Given the description of an element on the screen output the (x, y) to click on. 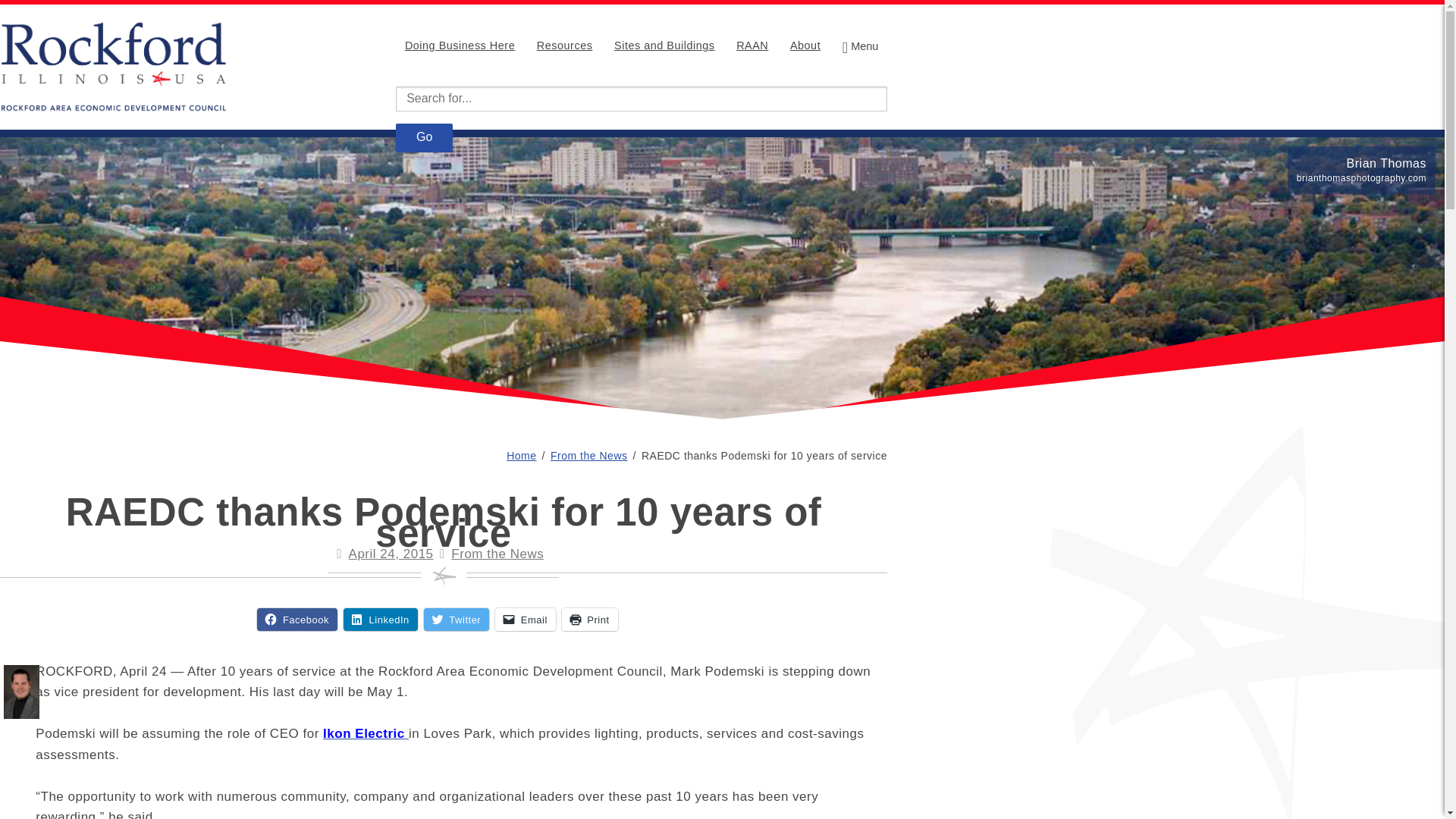
Click to share on Facebook (297, 619)
Click to email a link to a friend (525, 619)
Click to share on Twitter (456, 619)
Click to print (589, 619)
Click to share on LinkedIn (380, 619)
